Given the description of an element on the screen output the (x, y) to click on. 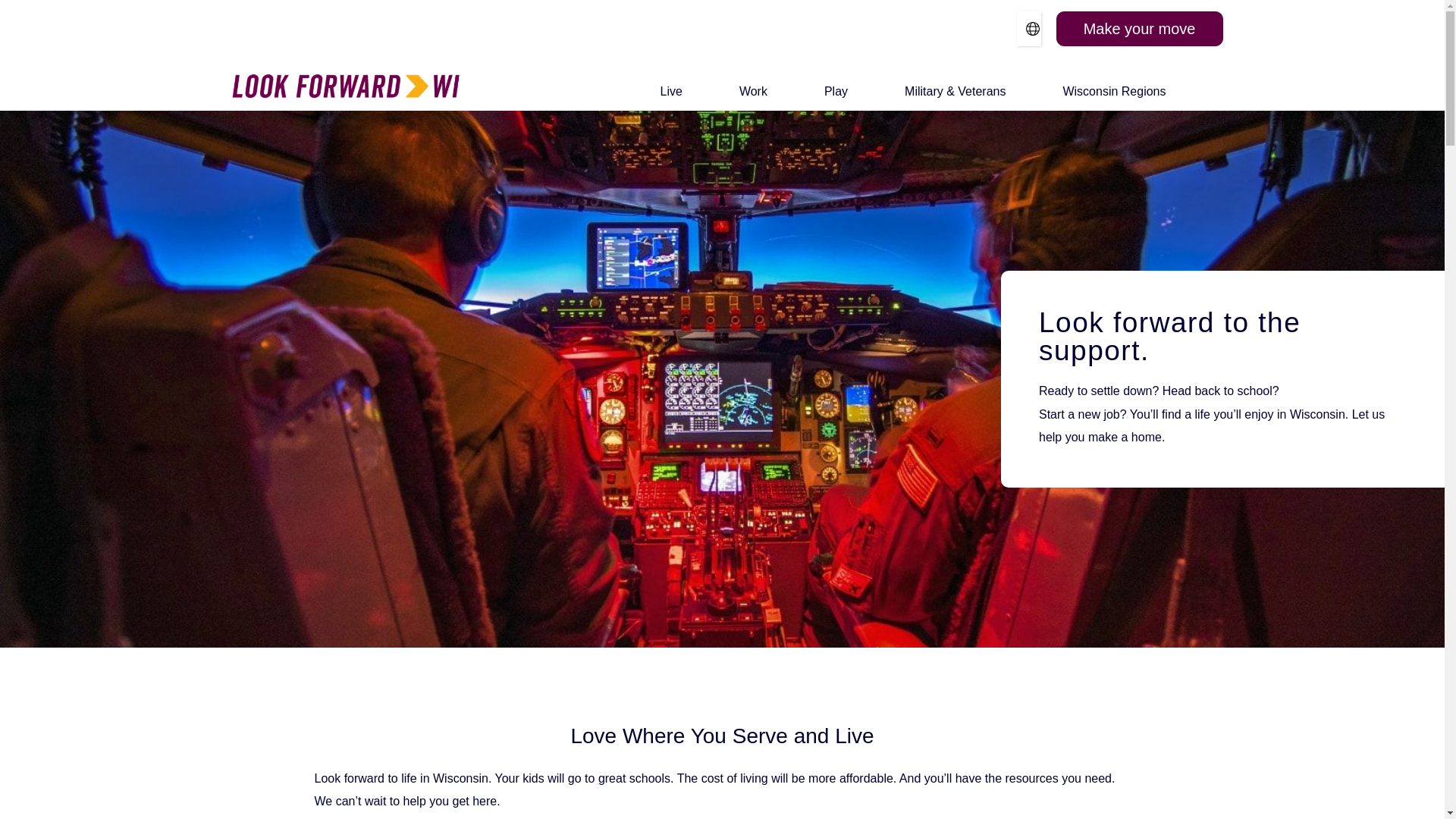
Live (671, 91)
Work (753, 91)
Play (835, 91)
Make your move (1140, 28)
Wisconsin Regions (1114, 91)
